Given the description of an element on the screen output the (x, y) to click on. 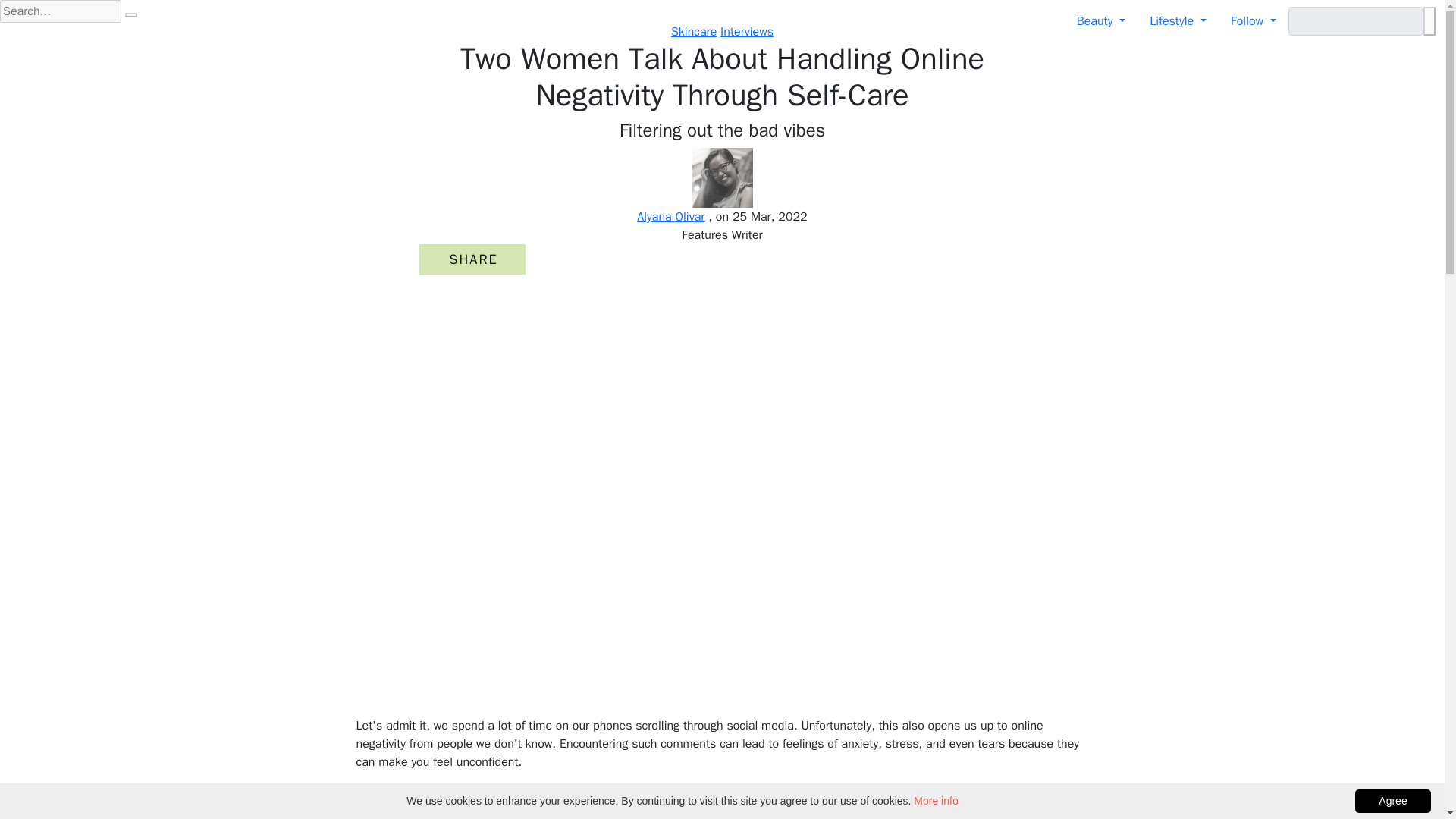
Interviews (746, 31)
Beauty (1100, 20)
Follow (1253, 20)
Skincare (693, 31)
Lifestyle (1177, 20)
Alyana Olivar (670, 216)
